Given the description of an element on the screen output the (x, y) to click on. 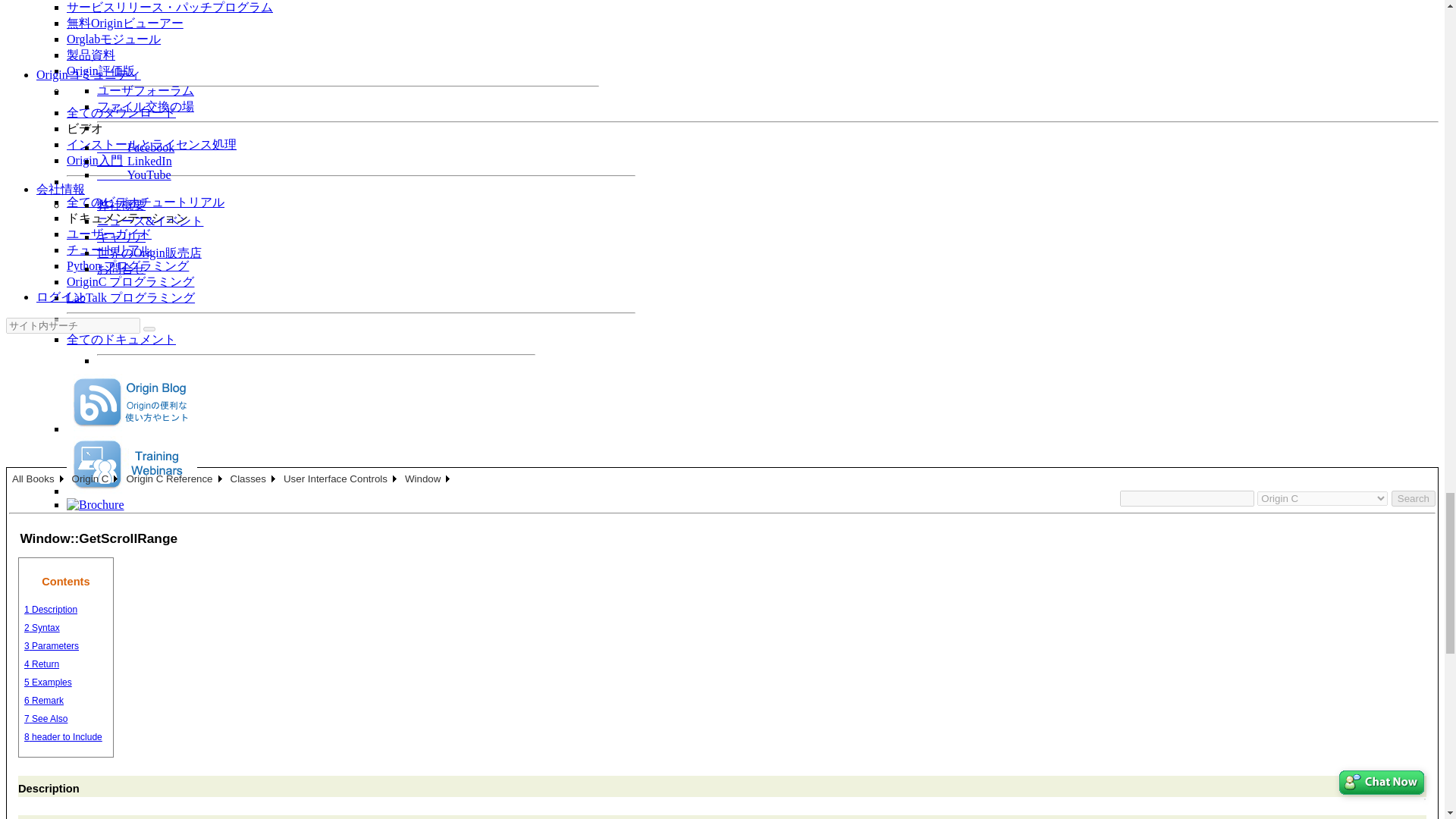
Origin C (95, 478)
User Interface Controls (341, 478)
All Books (38, 478)
Origin C Reference (174, 478)
Window (427, 478)
Classes (254, 478)
